Given the description of an element on the screen output the (x, y) to click on. 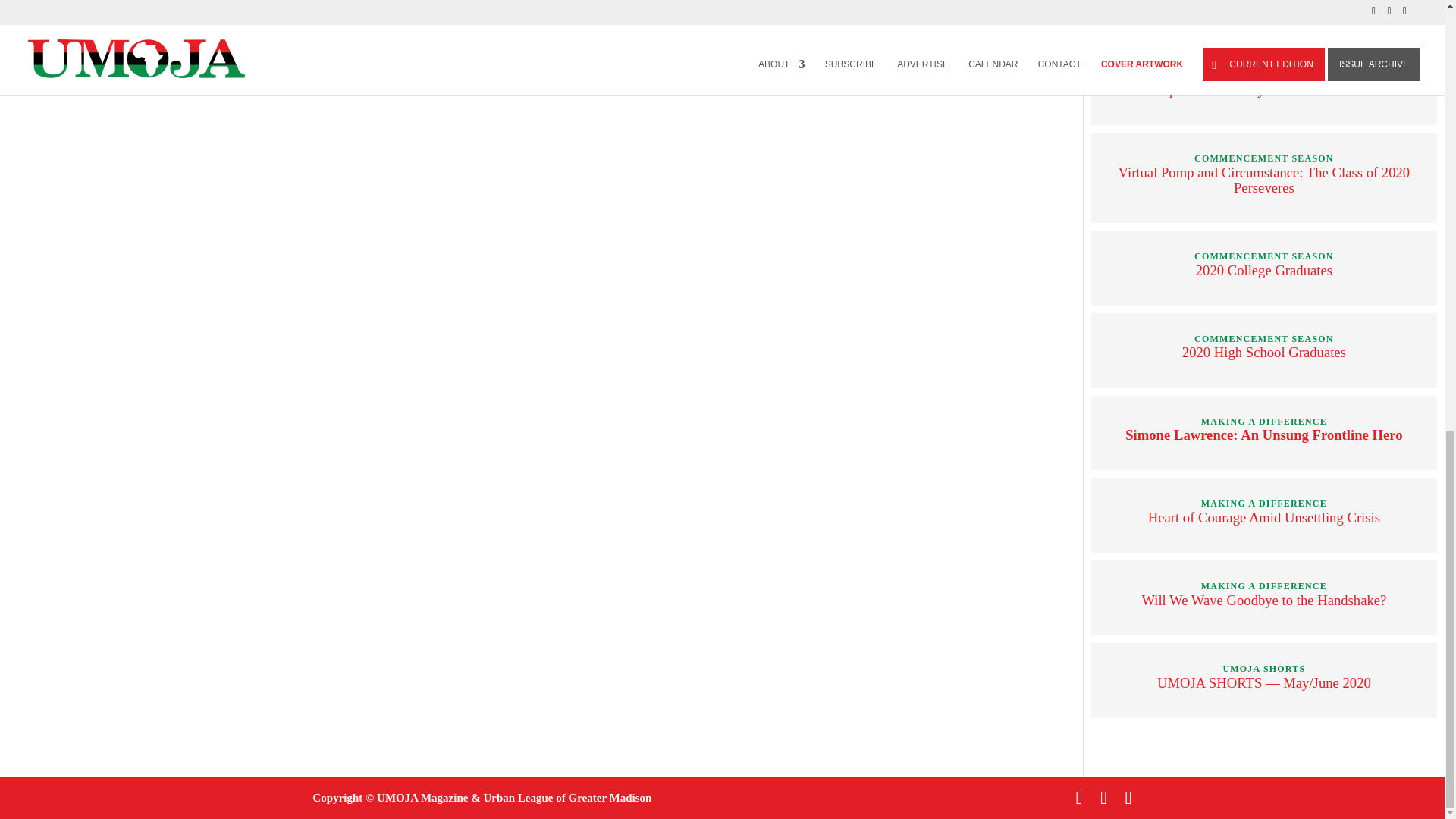
2020 College Graduates (1263, 270)
Virtual Pomp and Circumstance: The Class of 2020 Perseveres (1264, 179)
Simone Lawrence: An Unsung Frontline Hero (1263, 434)
2020 High School Graduates (1263, 351)
